Given the description of an element on the screen output the (x, y) to click on. 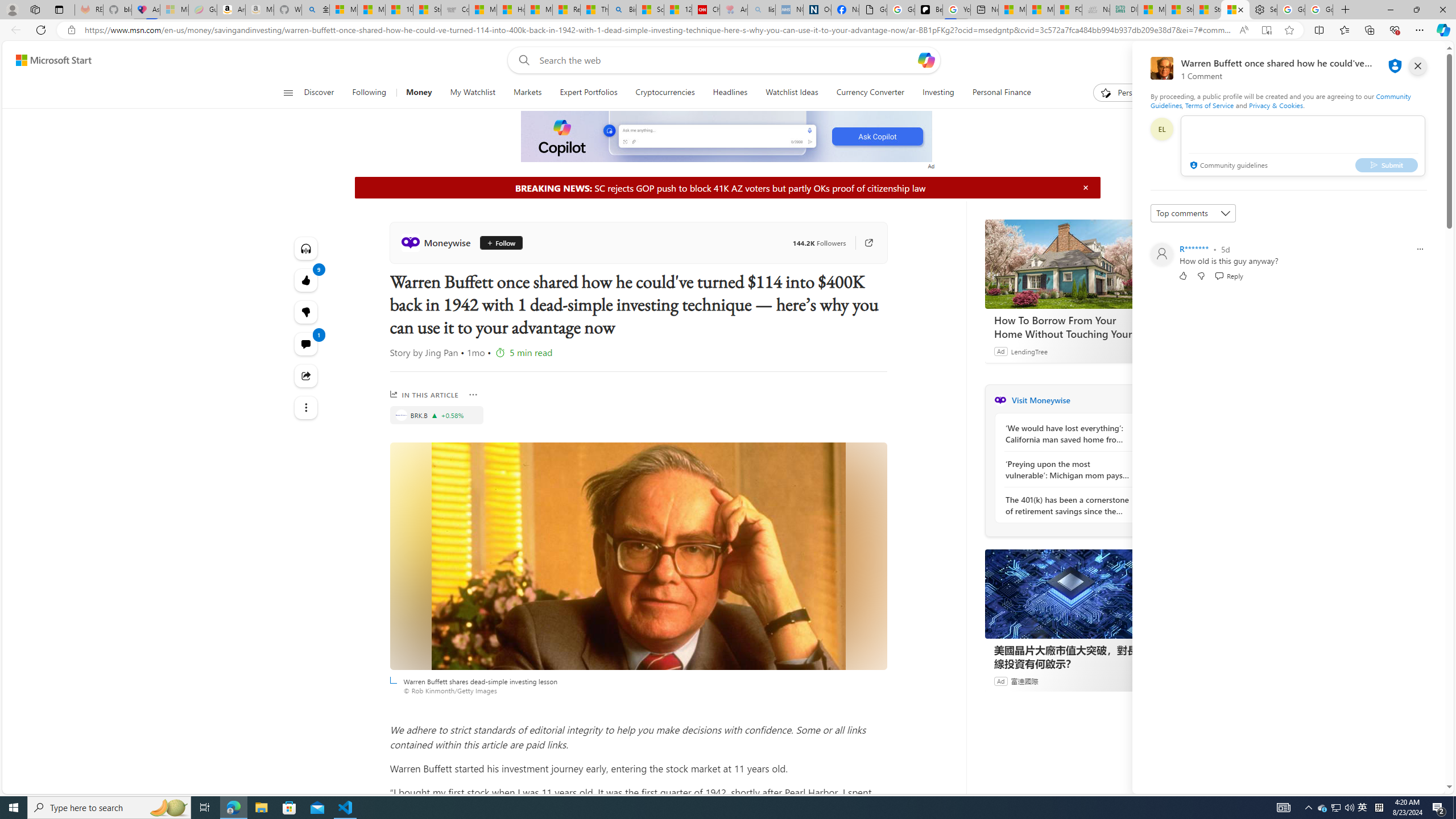
Headlines (729, 92)
Open Copilot (926, 59)
Combat Siege (454, 9)
Warren Buffett shares dead-simple investing lesson (637, 555)
Personalize (1128, 92)
More Options (473, 394)
Visit Moneywise website (1140, 399)
Privacy & Cookies (1276, 104)
Share this story (305, 375)
